Given the description of an element on the screen output the (x, y) to click on. 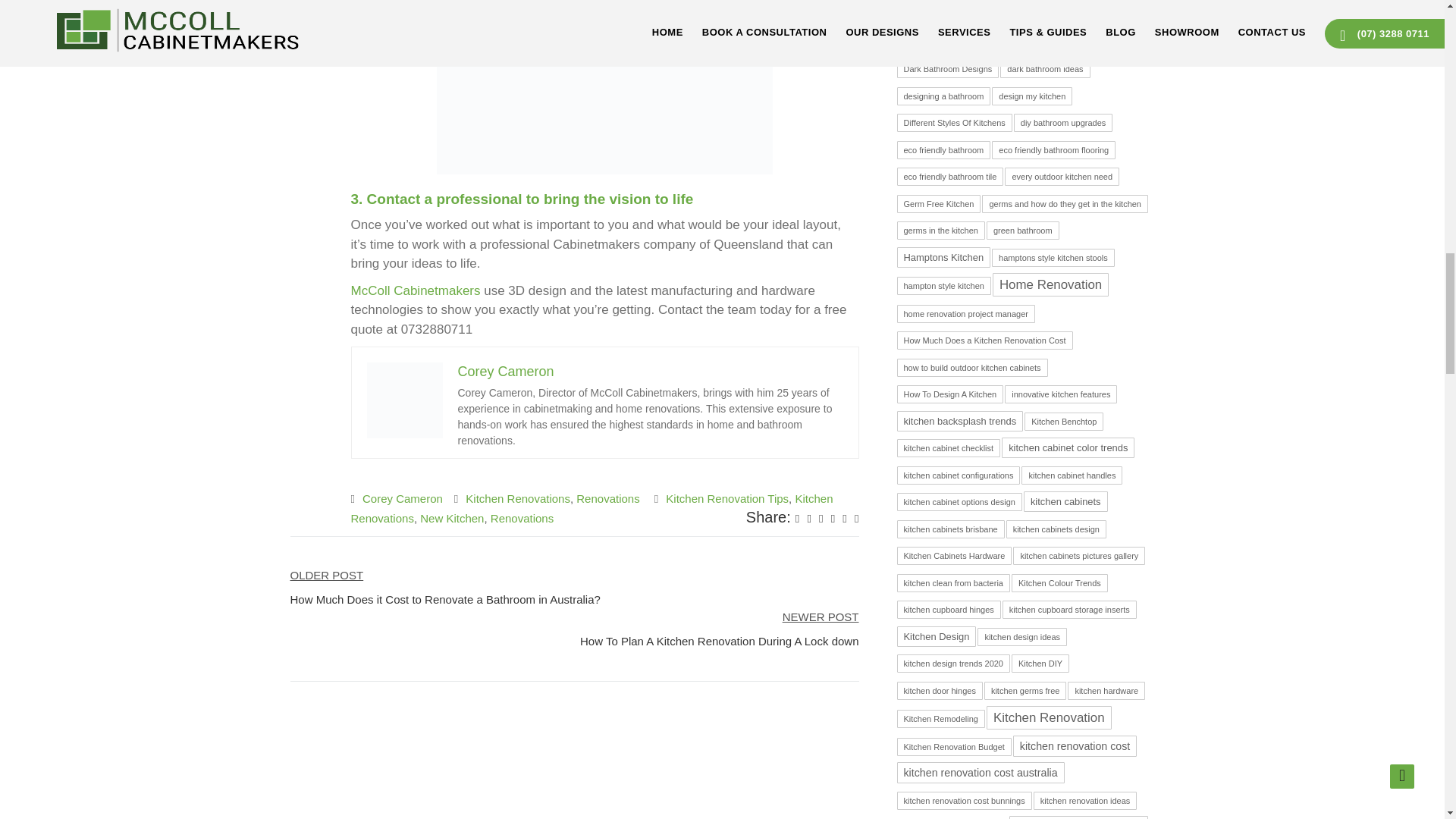
Corey Cameron (506, 371)
McColl Cabinetmakers (415, 290)
Corey Cameron (402, 498)
Renovations (521, 517)
New Kitchen (451, 517)
Kitchen Renovations (591, 508)
Kitchen Renovation Tips (727, 498)
Renovations (607, 498)
Kitchen Renovations (517, 498)
